Given the description of an element on the screen output the (x, y) to click on. 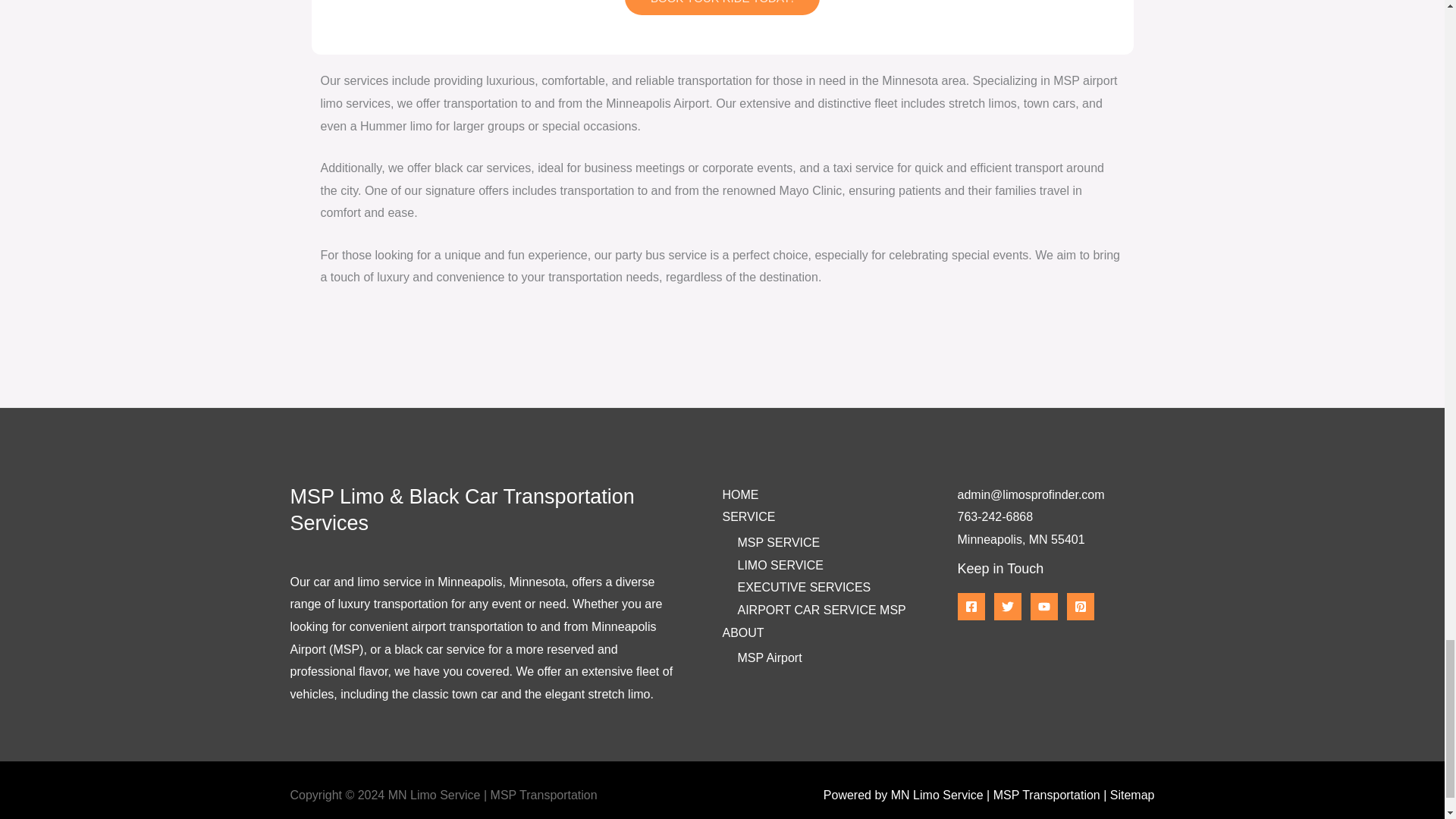
LIMO SERVICE (780, 564)
MSP Airport (769, 657)
BOOK YOUR RIDE TODAY! (721, 7)
ABOUT (742, 632)
SERVICE (748, 516)
AIRPORT CAR SERVICE MSP (820, 609)
HOME (740, 494)
MSP SERVICE (777, 542)
EXECUTIVE SERVICES (803, 586)
